Given the description of an element on the screen output the (x, y) to click on. 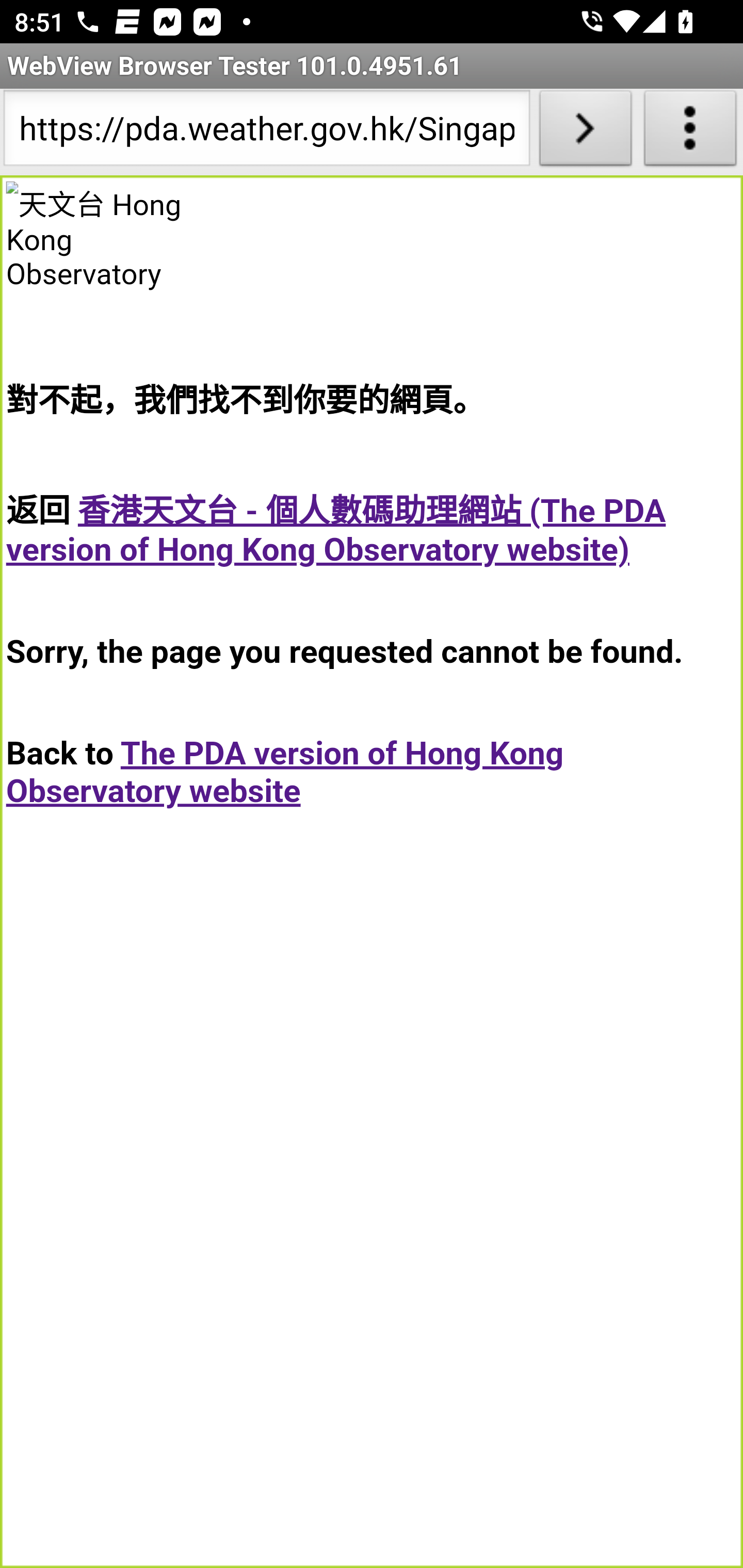
Load URL (585, 132)
About WebView (690, 132)
The PDA version of Hong Kong Observatory website (284, 771)
